Given the description of an element on the screen output the (x, y) to click on. 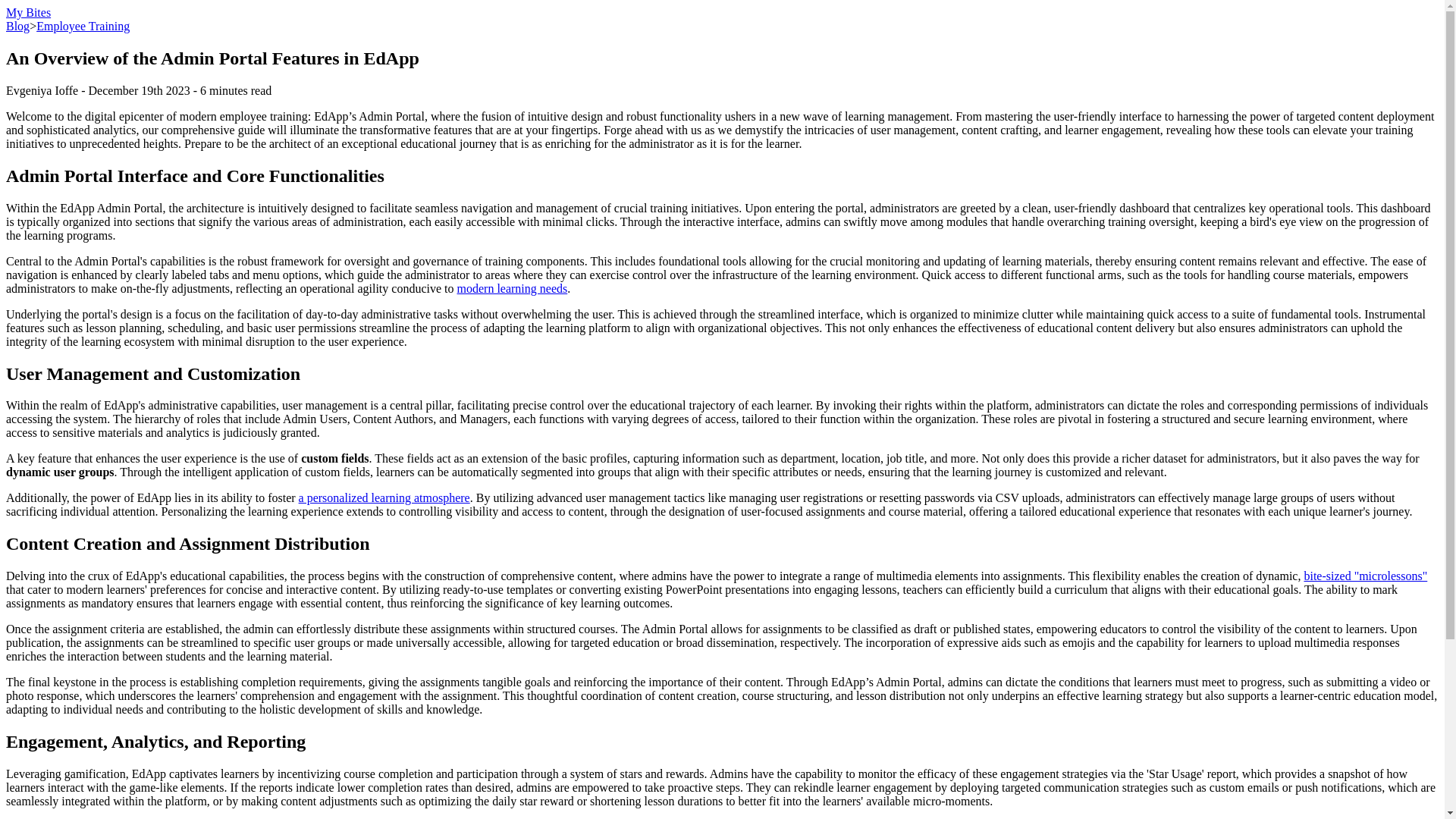
My Bites (27, 11)
a personalized learning atmosphere (384, 497)
modern learning needs (512, 287)
bite-sized "microlessons" (1364, 575)
Employee Training (82, 25)
Blog (17, 25)
